Given the description of an element on the screen output the (x, y) to click on. 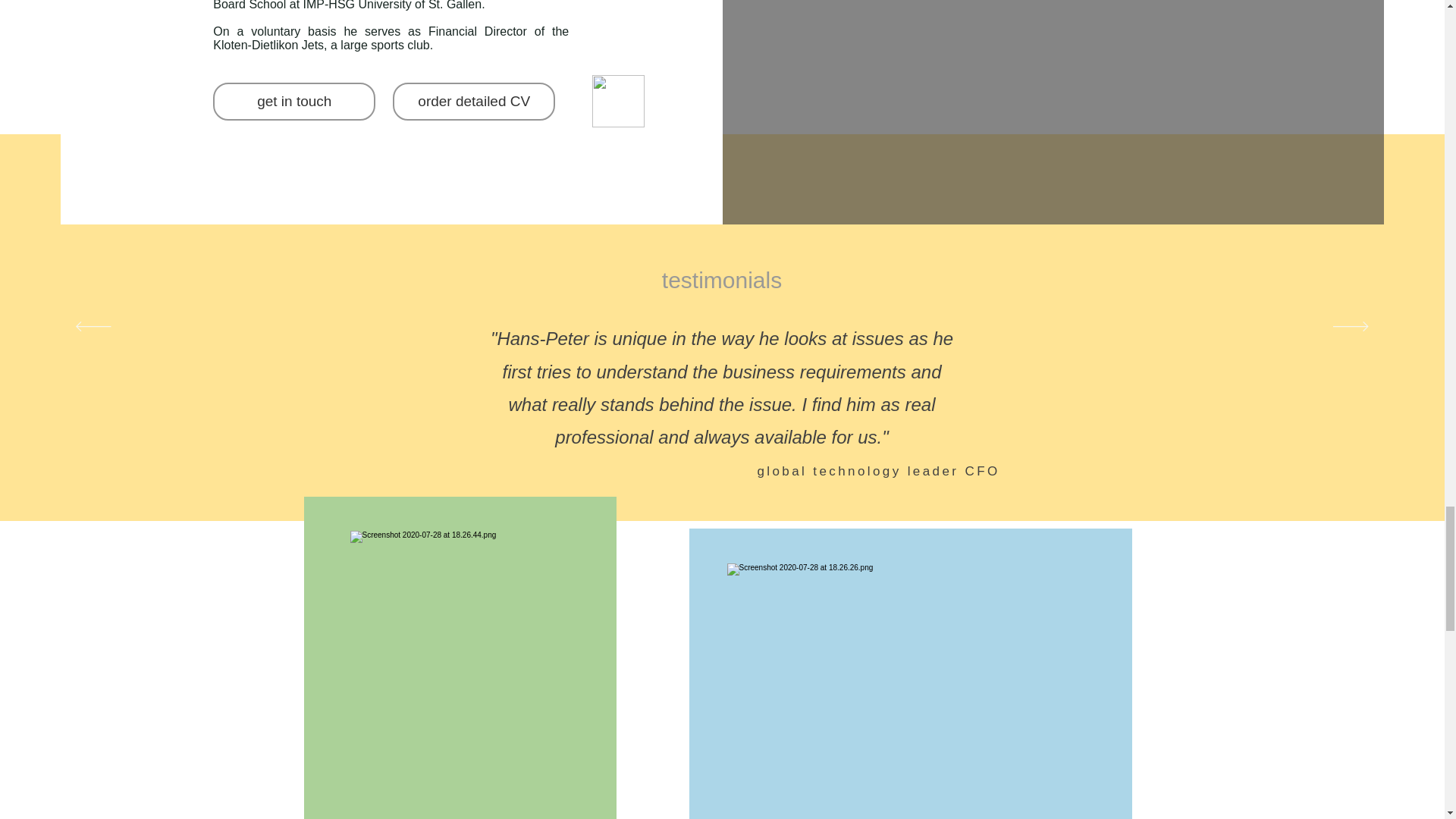
order detailed CV (473, 101)
get in touch (293, 101)
LinkedIn-Button.png (618, 101)
